Given the description of an element on the screen output the (x, y) to click on. 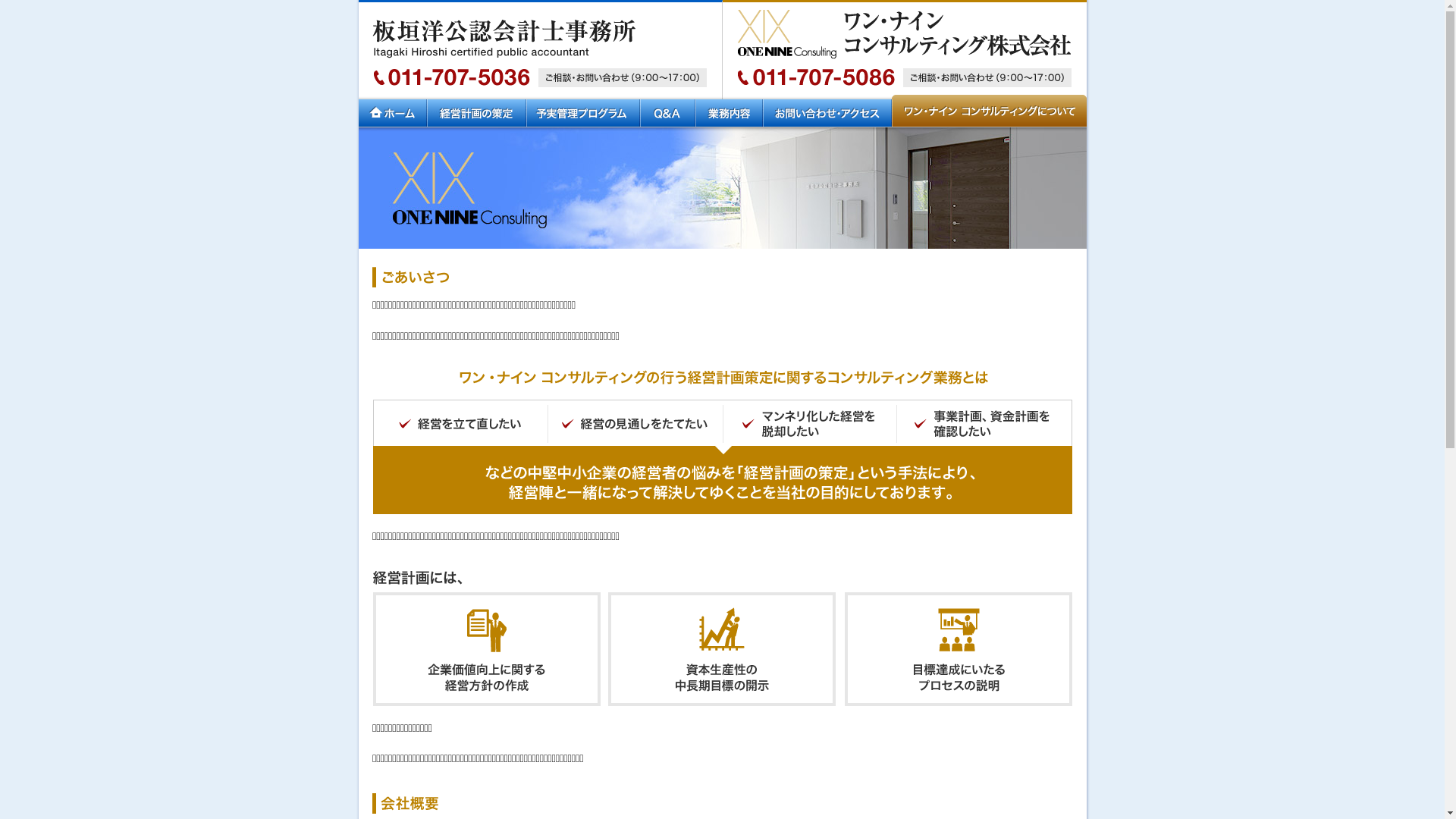
Q&A Element type: text (667, 110)
